Given the description of an element on the screen output the (x, y) to click on. 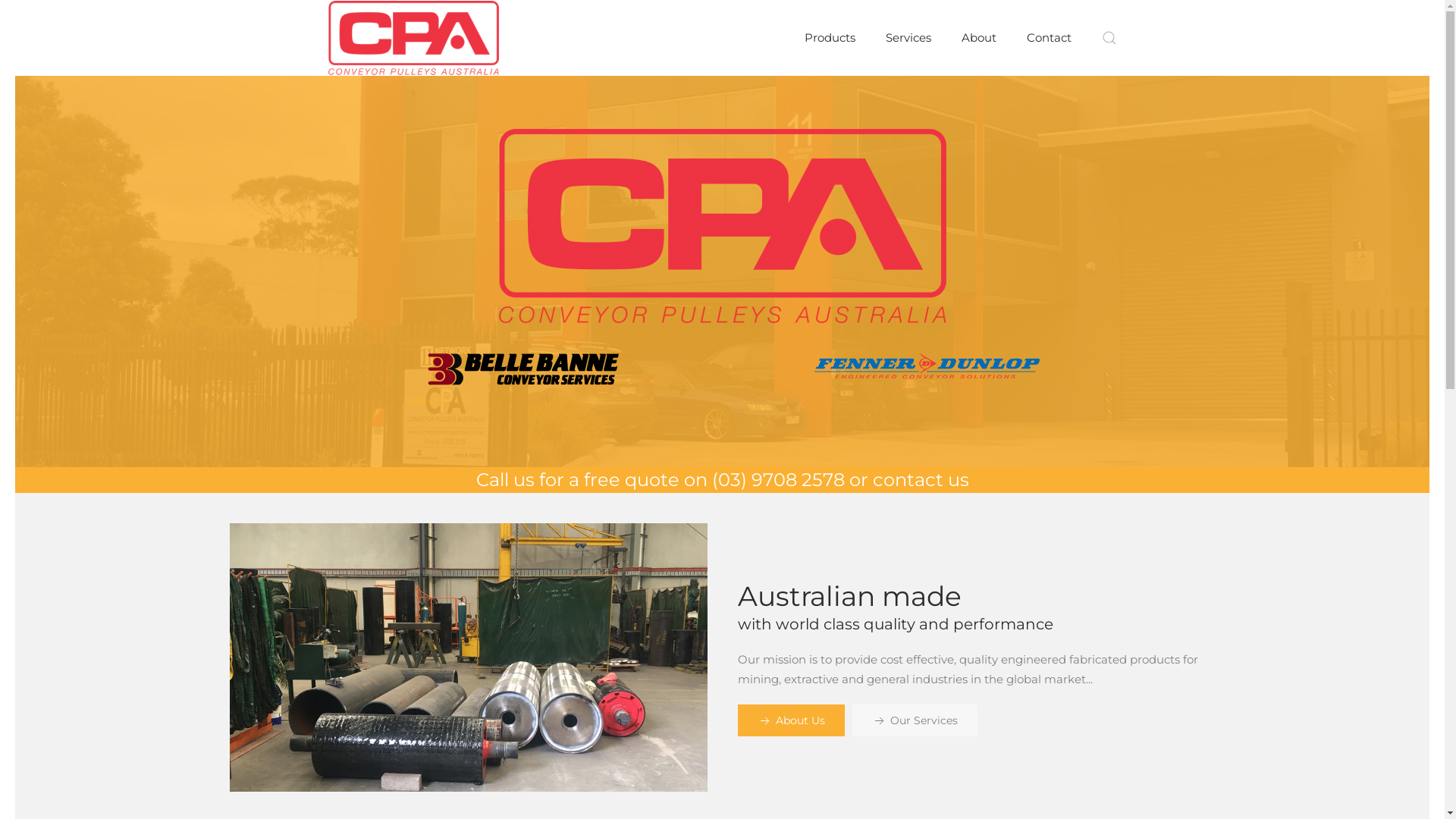
Services Element type: text (908, 37)
About Us Element type: text (790, 719)
contact us Element type: text (920, 479)
Products Element type: text (828, 37)
Our Services Element type: text (914, 719)
About Element type: text (978, 37)
Contact Element type: text (1048, 37)
